Given the description of an element on the screen output the (x, y) to click on. 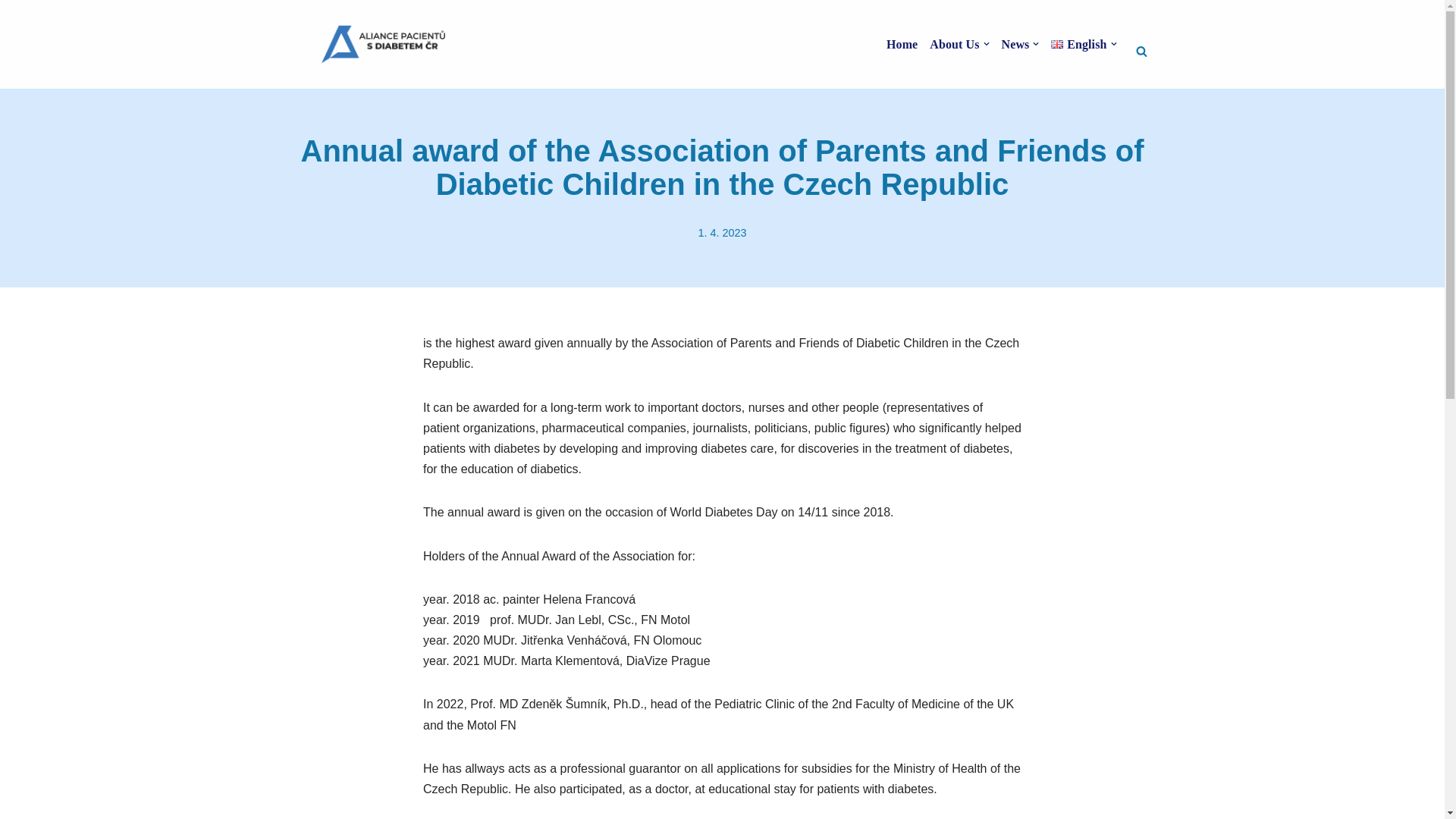
dialidi (382, 43)
Skip to content (11, 31)
English (1083, 44)
About Us (959, 44)
Home (901, 44)
News (1020, 44)
